Given the description of an element on the screen output the (x, y) to click on. 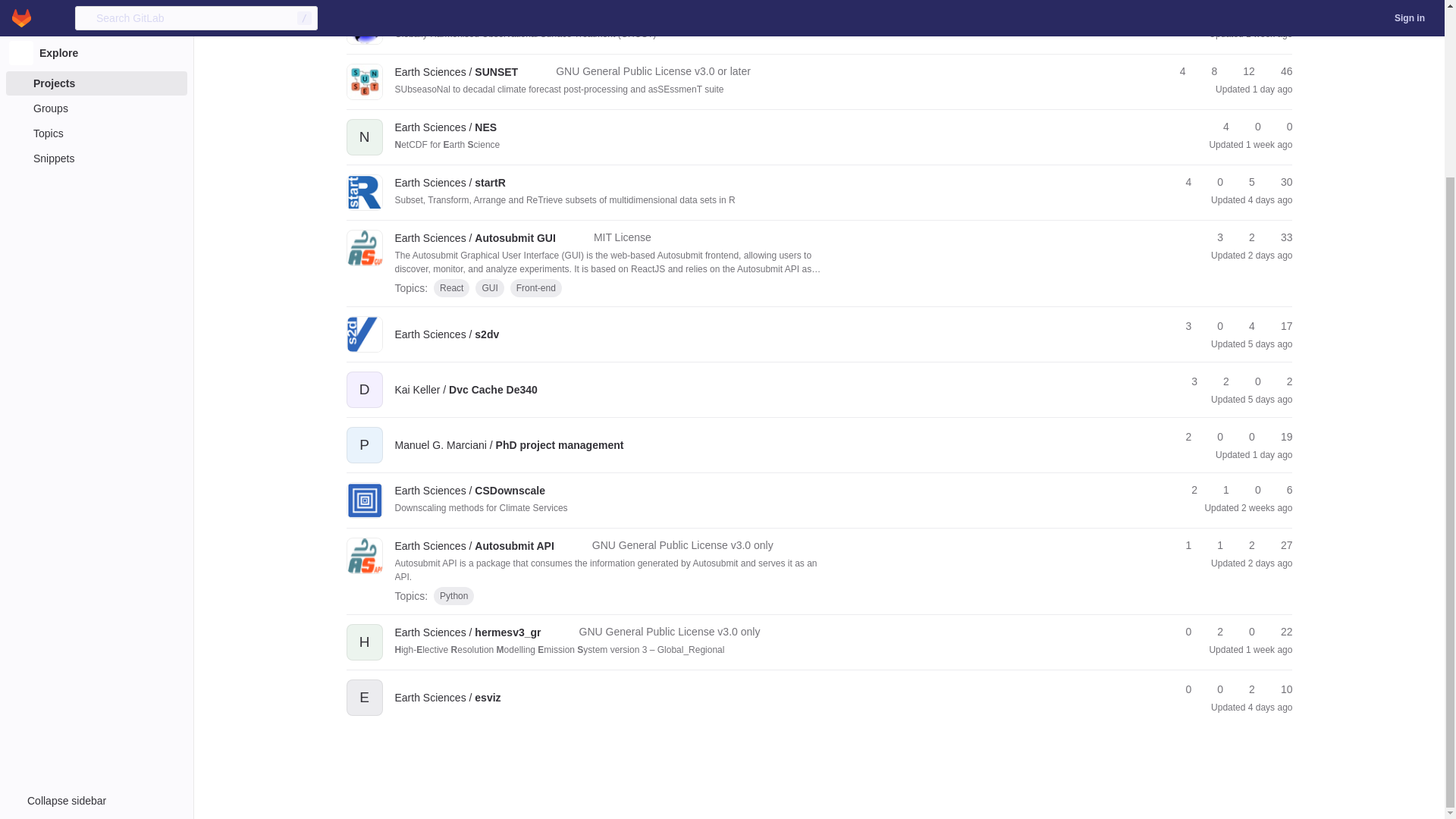
Merge requests (1244, 16)
Toggle sidebar (96, 585)
Stars (1182, 16)
Collapse sidebar (96, 585)
Forks (1213, 16)
